Given the description of an element on the screen output the (x, y) to click on. 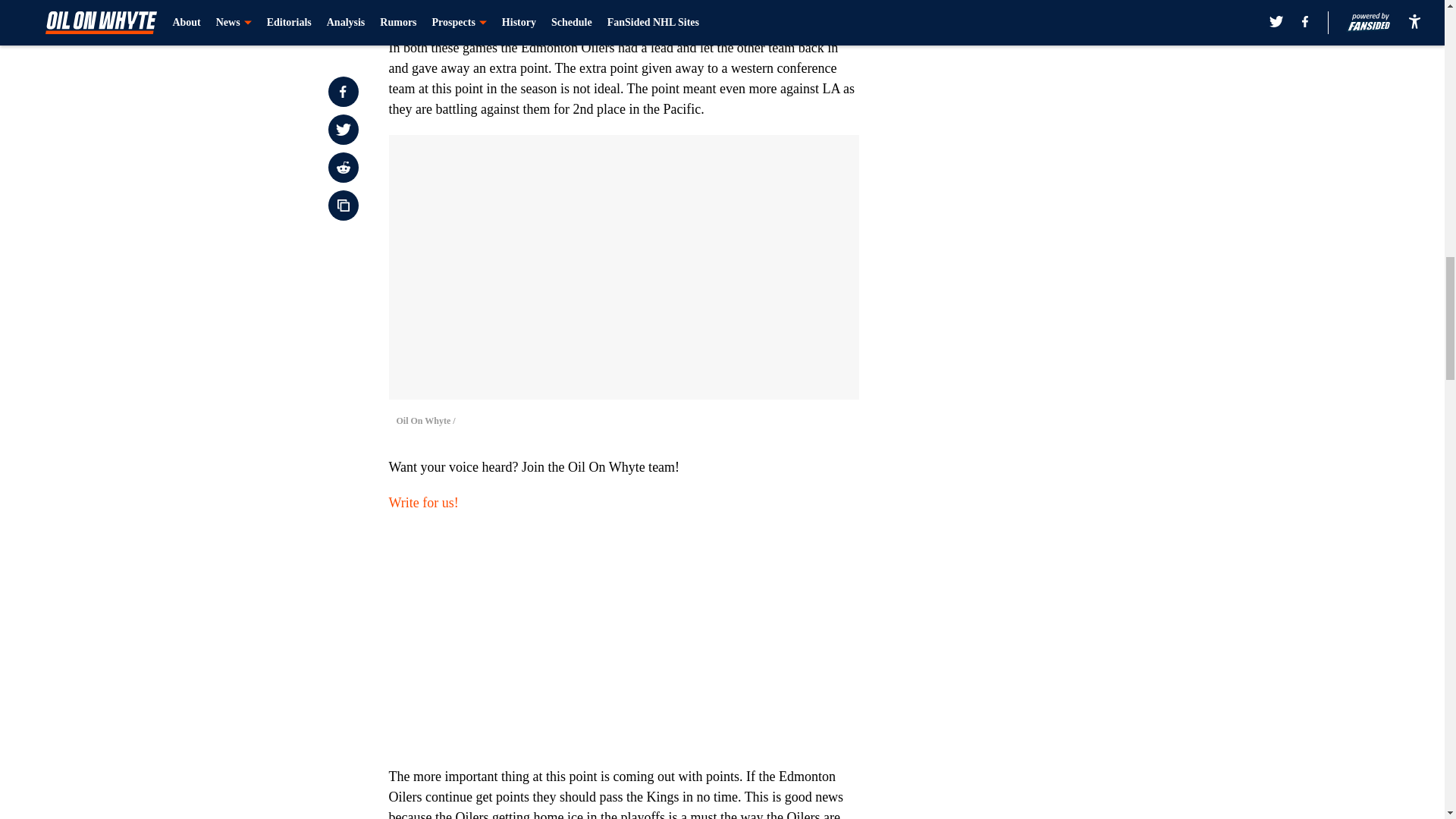
Write for us! (423, 502)
